Given the description of an element on the screen output the (x, y) to click on. 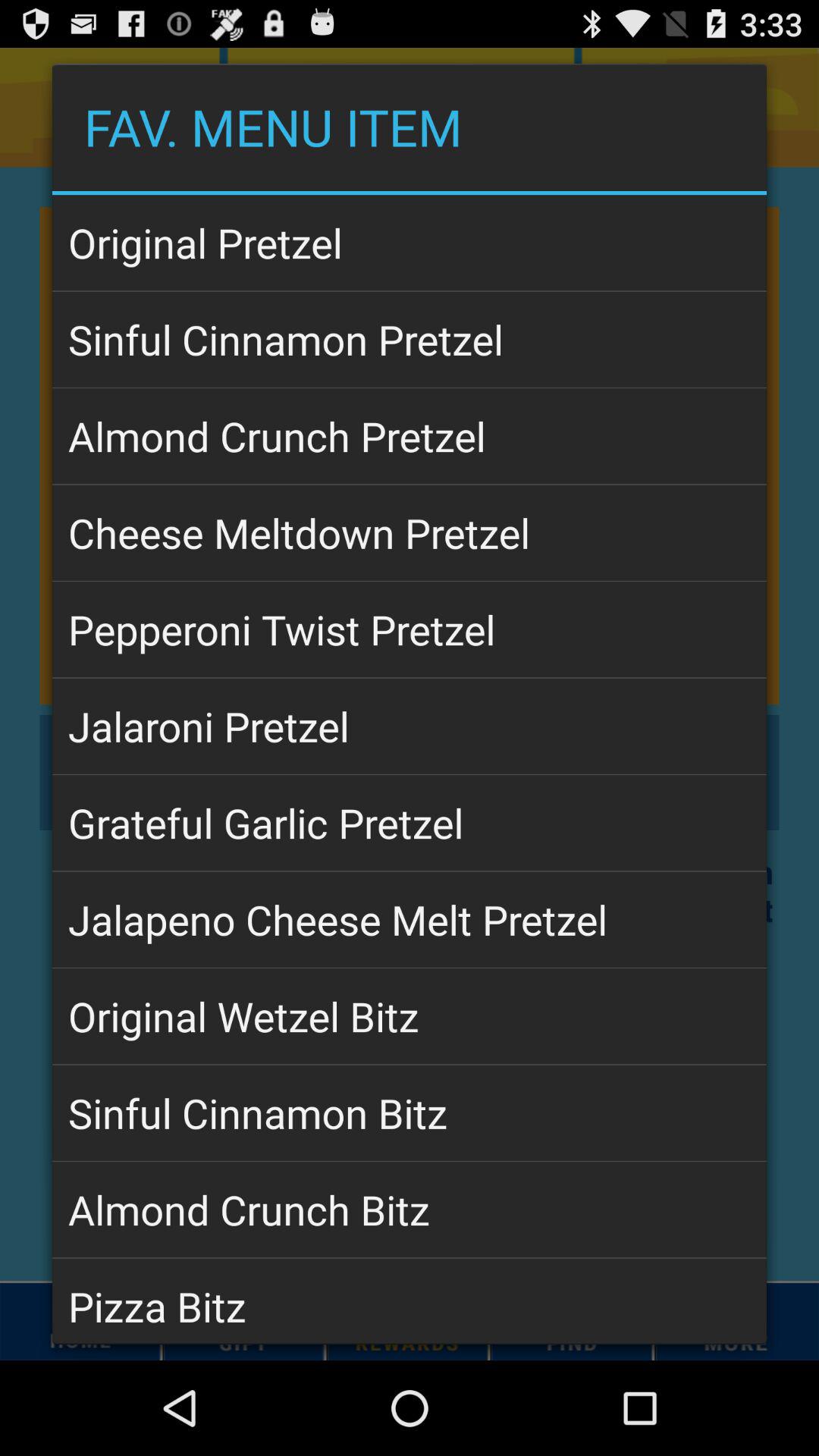
turn on the app above the jalapeno cheese melt app (409, 822)
